Given the description of an element on the screen output the (x, y) to click on. 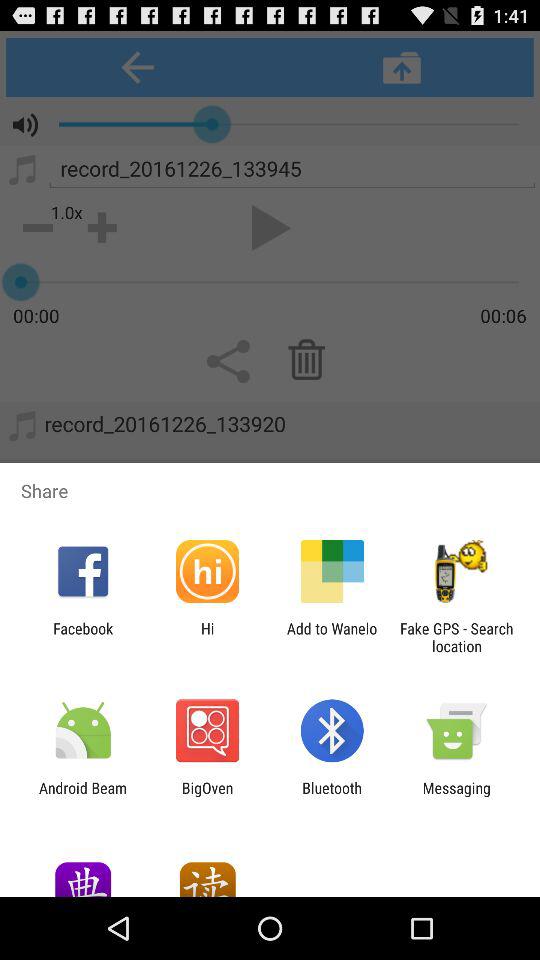
select icon to the right of the hi icon (331, 637)
